Given the description of an element on the screen output the (x, y) to click on. 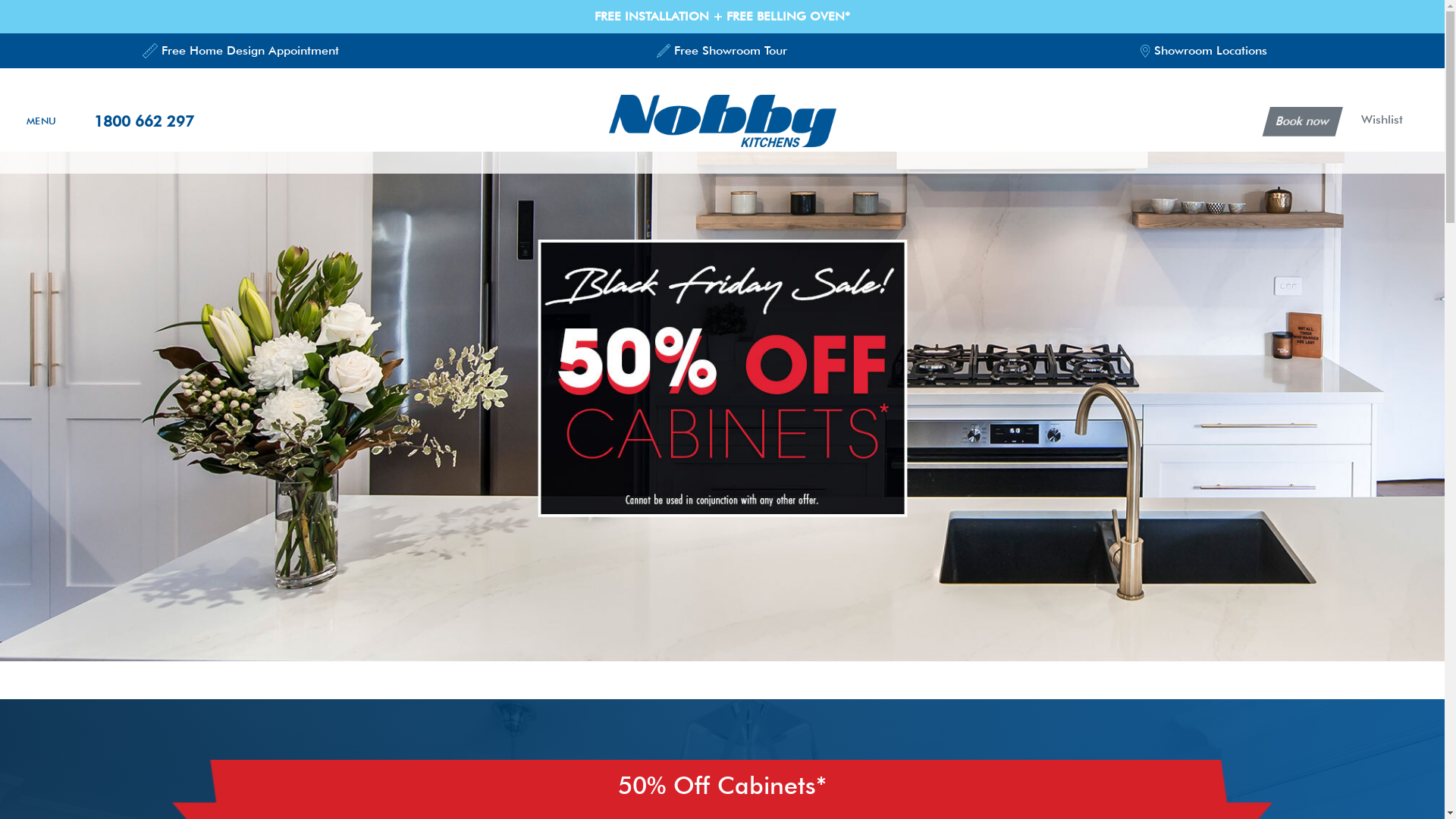
Wishlist Element type: text (1380, 119)
Free Home Design Appointment Element type: text (240, 50)
MENU Element type: text (41, 120)
Showroom Locations Element type: text (1203, 50)
FREE INSTALLATION + FREE BELLING OVEN* Element type: text (722, 16)
Free Showroom Tour Element type: text (721, 50)
Book now Element type: text (1298, 120)
1800 662 297 Element type: text (144, 121)
